Given the description of an element on the screen output the (x, y) to click on. 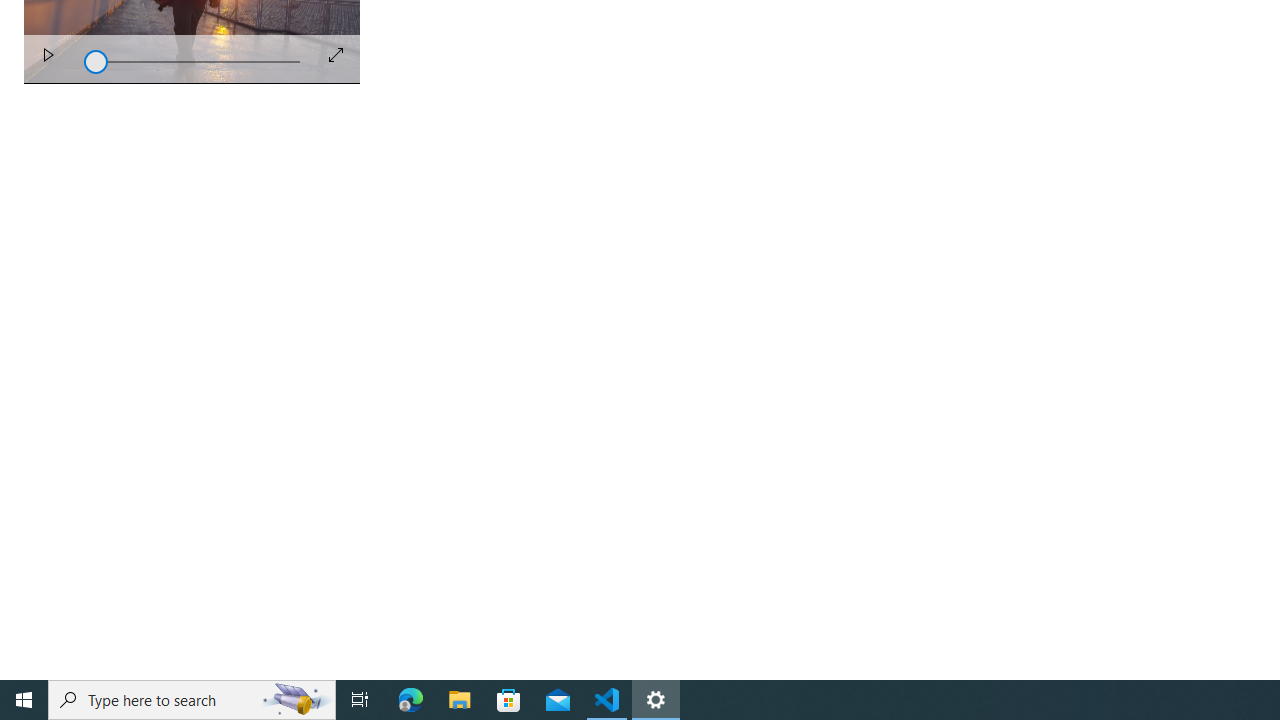
Seek (191, 59)
Settings - 1 running window (656, 699)
Play (47, 58)
Full Screen (335, 54)
